Given the description of an element on the screen output the (x, y) to click on. 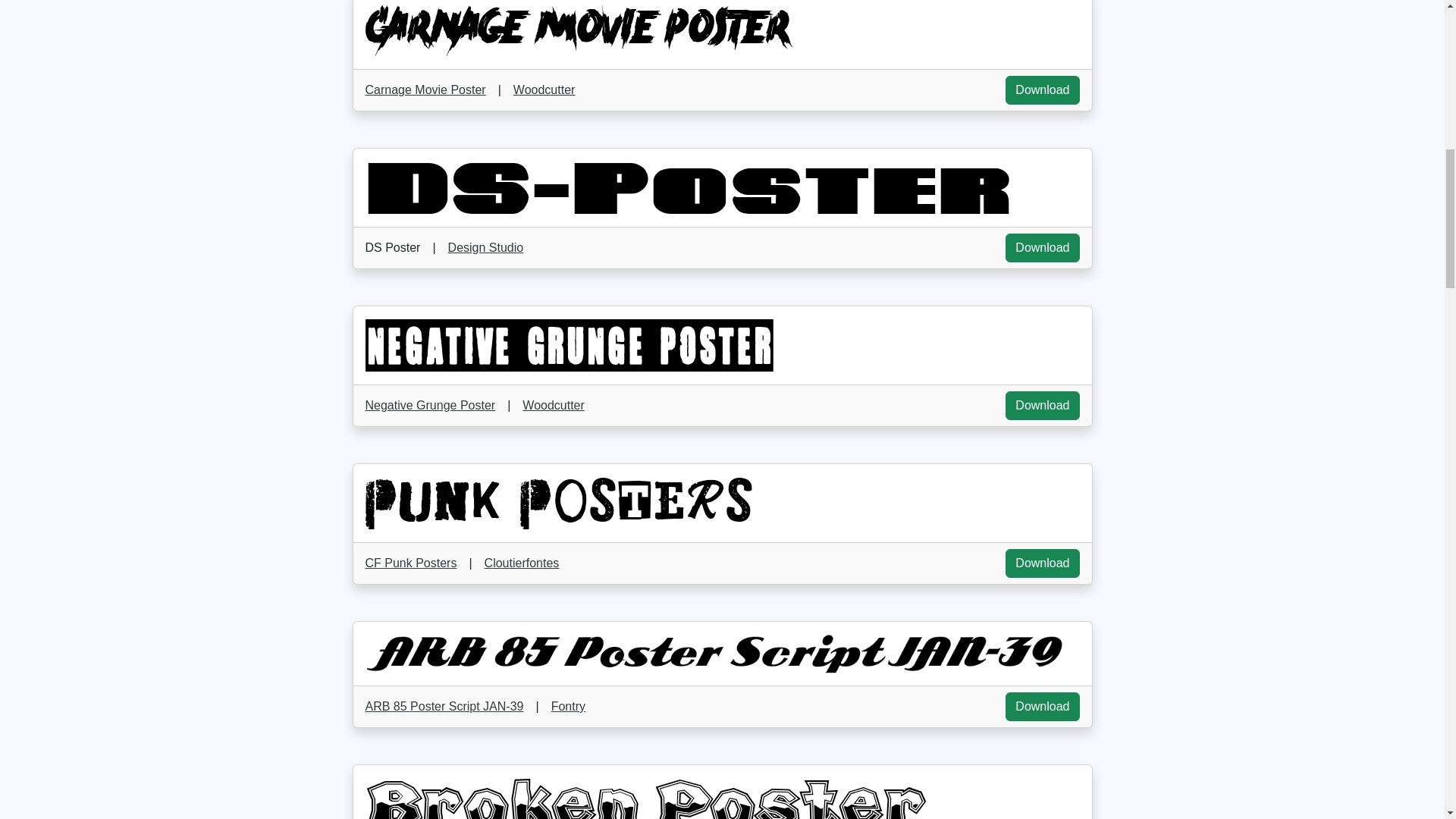
Download (1042, 405)
Download (1042, 90)
Cloutierfontes (521, 562)
Carnage Movie Poster (425, 90)
Download (1042, 706)
Woodcutter (544, 89)
Download (1042, 247)
CF Punk Posters (411, 563)
Design Studio (486, 246)
ARB 85 Poster Script JAN-39 (444, 706)
